Given the description of an element on the screen output the (x, y) to click on. 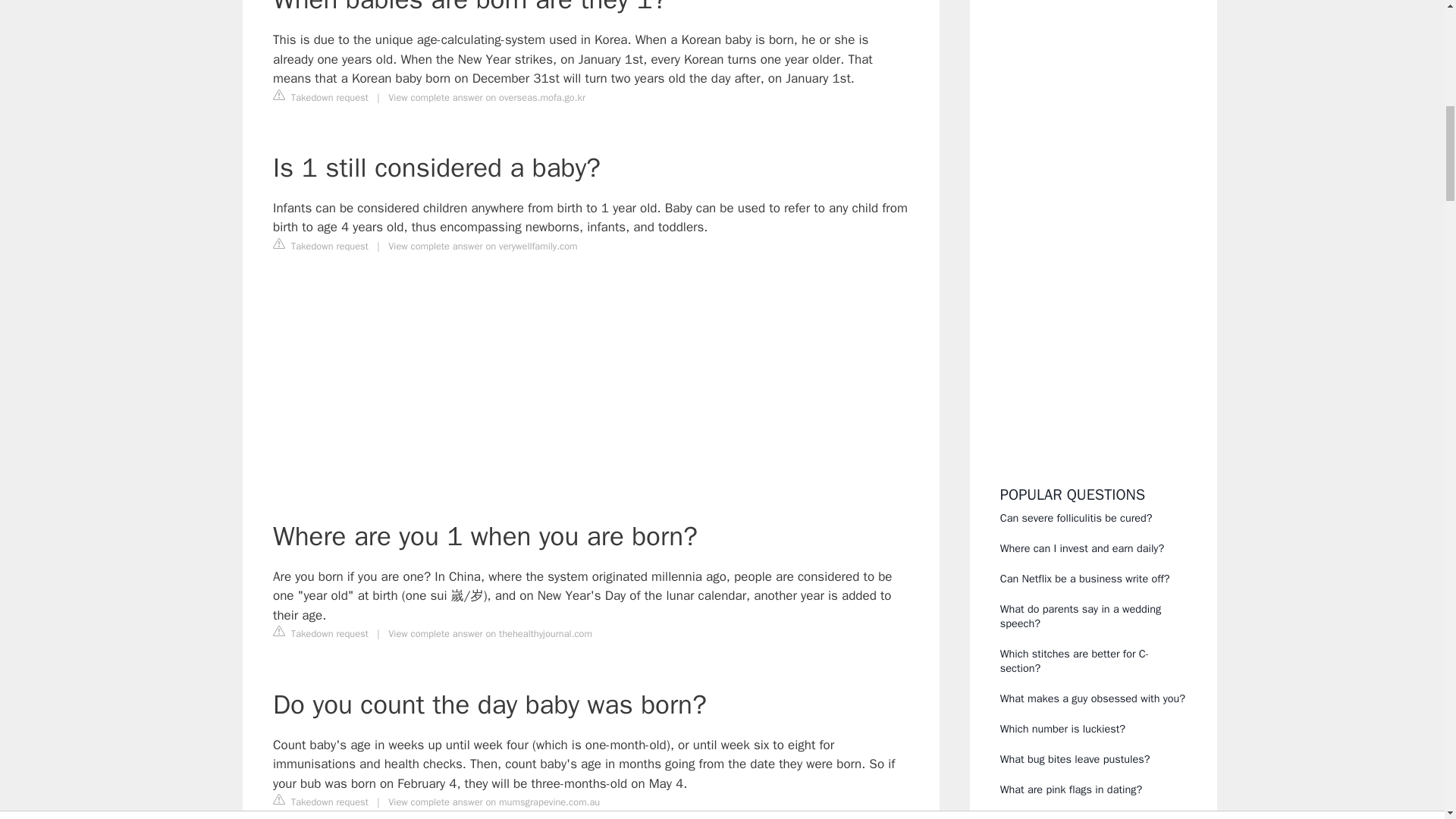
Takedown request (320, 96)
View complete answer on thehealthyjournal.com (490, 633)
View complete answer on overseas.mofa.go.kr (486, 97)
Takedown request (320, 801)
Takedown request (320, 632)
View complete answer on mumsgrapevine.com.au (493, 802)
Takedown request (320, 245)
View complete answer on verywellfamily.com (482, 246)
